Given the description of an element on the screen output the (x, y) to click on. 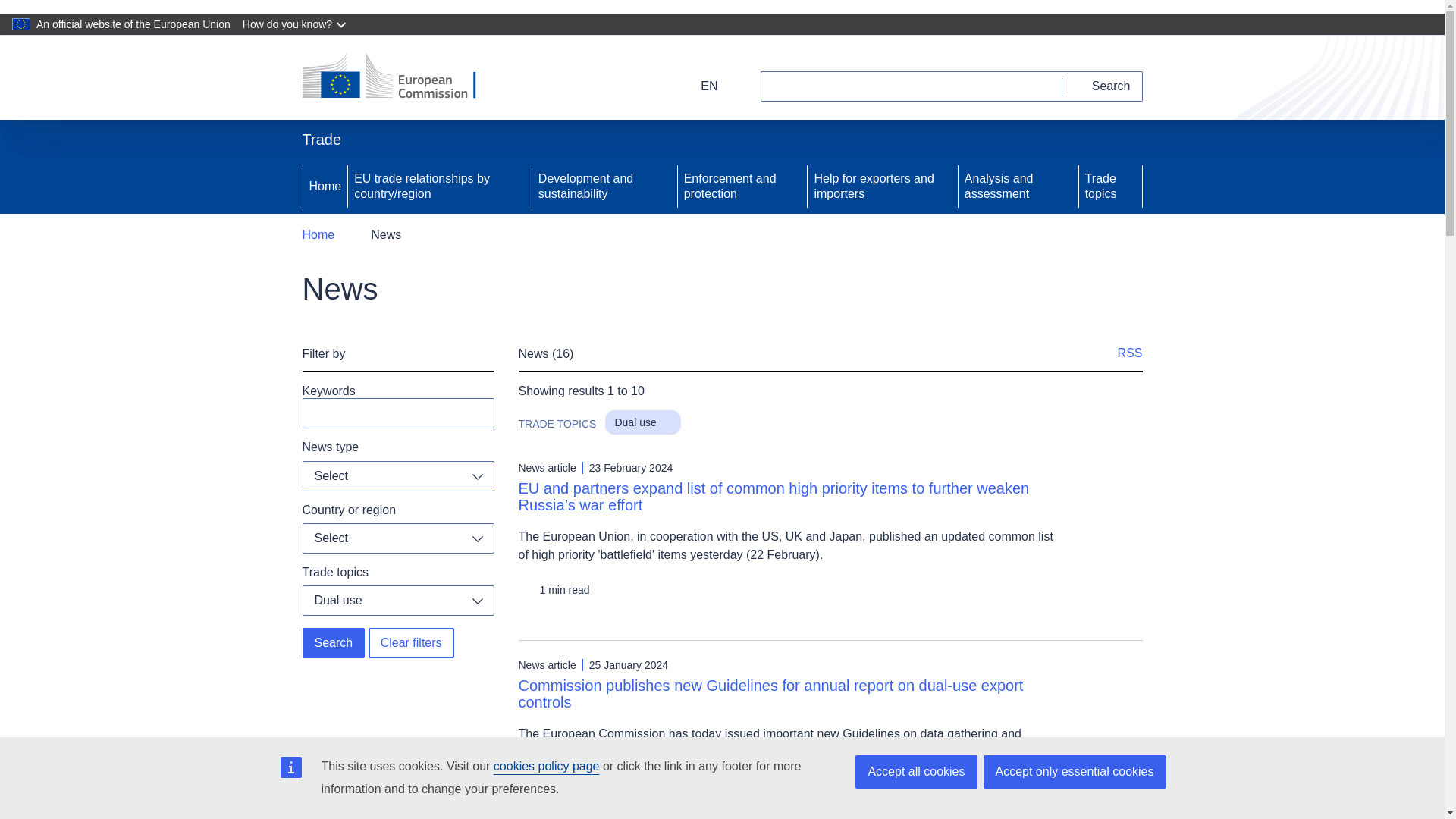
European Commission (399, 77)
Select (397, 538)
Analysis and assessment (1018, 185)
Toggle dropdown (478, 538)
Search (1102, 86)
Help for exporters and importers (882, 185)
Home (317, 234)
Accept all cookies (916, 771)
Search (333, 643)
